Given the description of an element on the screen output the (x, y) to click on. 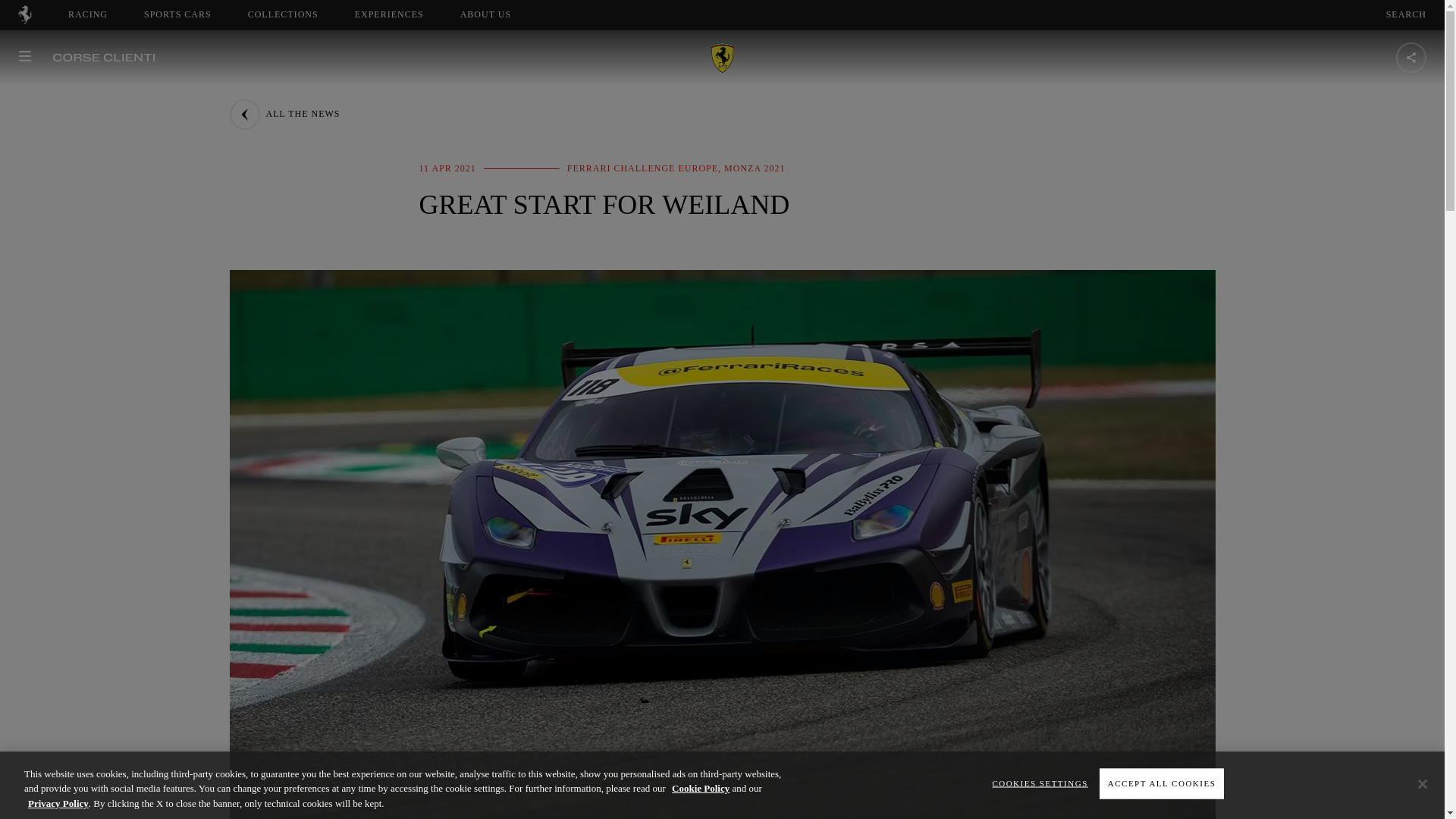
EXPERIENCES (389, 14)
SPORTS CARS (177, 14)
SEARCH (1406, 14)
RACING (87, 14)
ALL THE NEWS (283, 114)
ABOUT US (499, 14)
COLLECTIONS (485, 14)
Ferrari logo (282, 14)
